Given the description of an element on the screen output the (x, y) to click on. 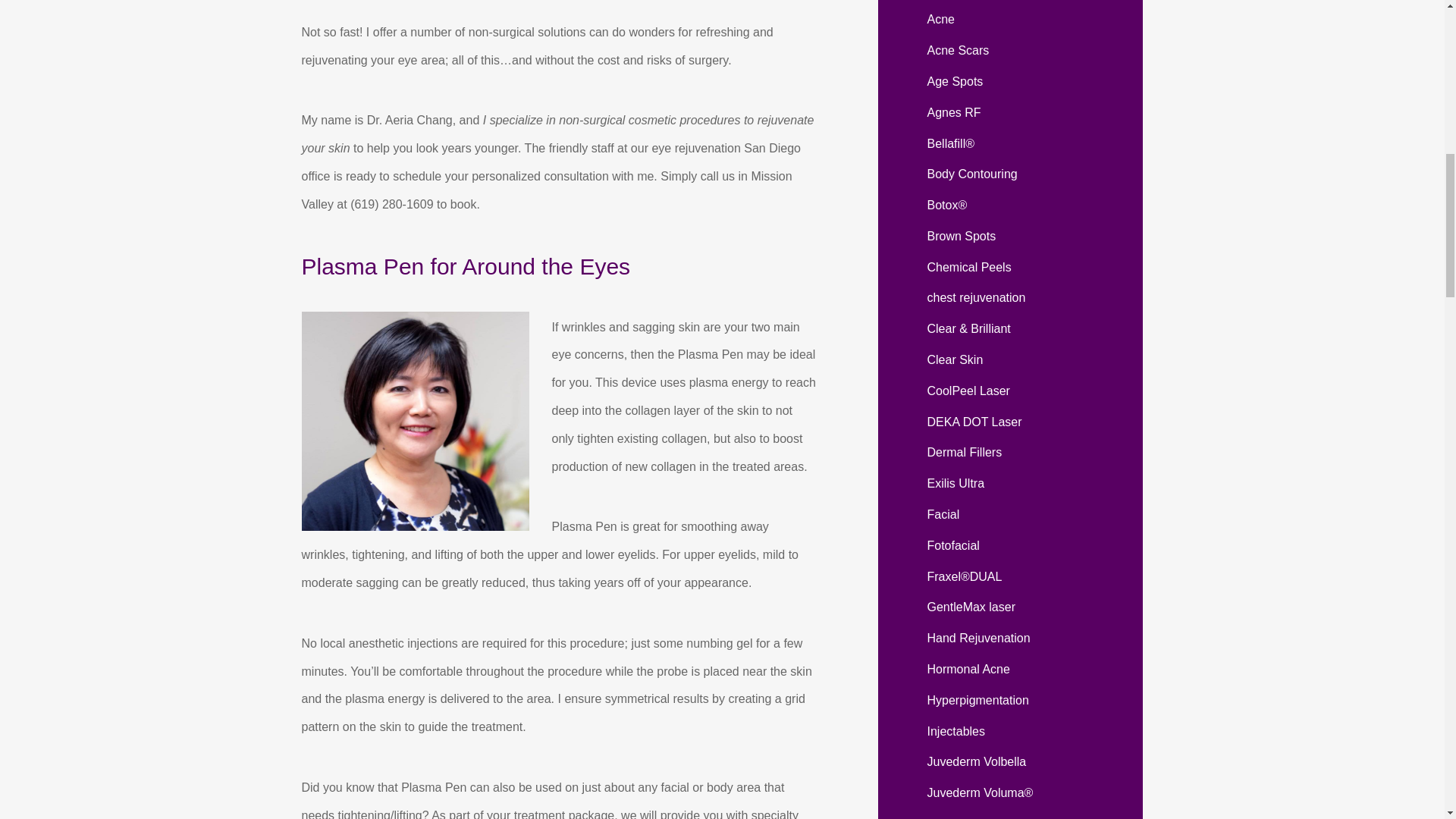
View all posts in Acne Scars (957, 50)
Facial (942, 513)
View all posts in CoolPeel Laser (967, 390)
Chemical Peels (968, 267)
DEKA DOT Laser (974, 421)
Dermal Fillers (963, 451)
Exilis Ultra (955, 482)
Acne Scars (957, 50)
View all posts in Acne (939, 19)
Brown Spots (960, 236)
